Given the description of an element on the screen output the (x, y) to click on. 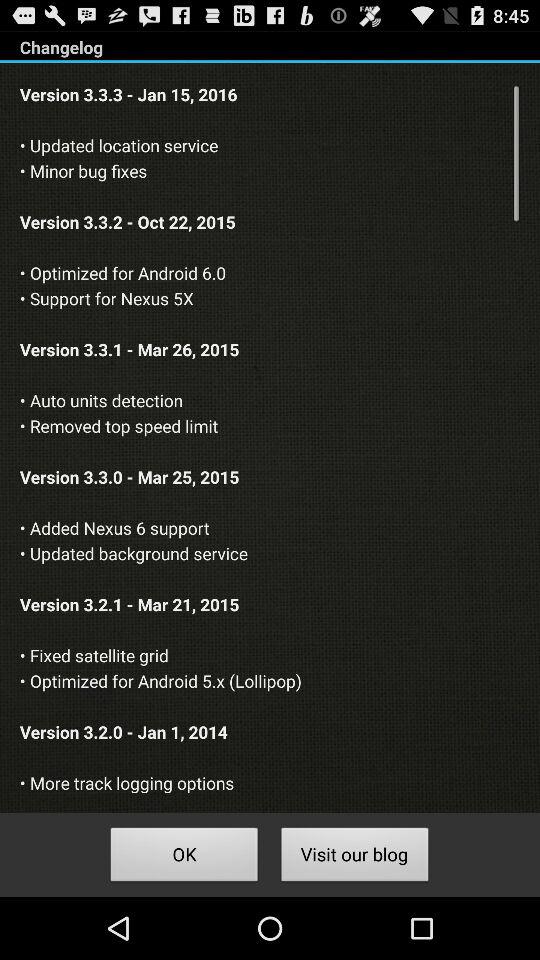
open the visit our blog item (354, 857)
